Given the description of an element on the screen output the (x, y) to click on. 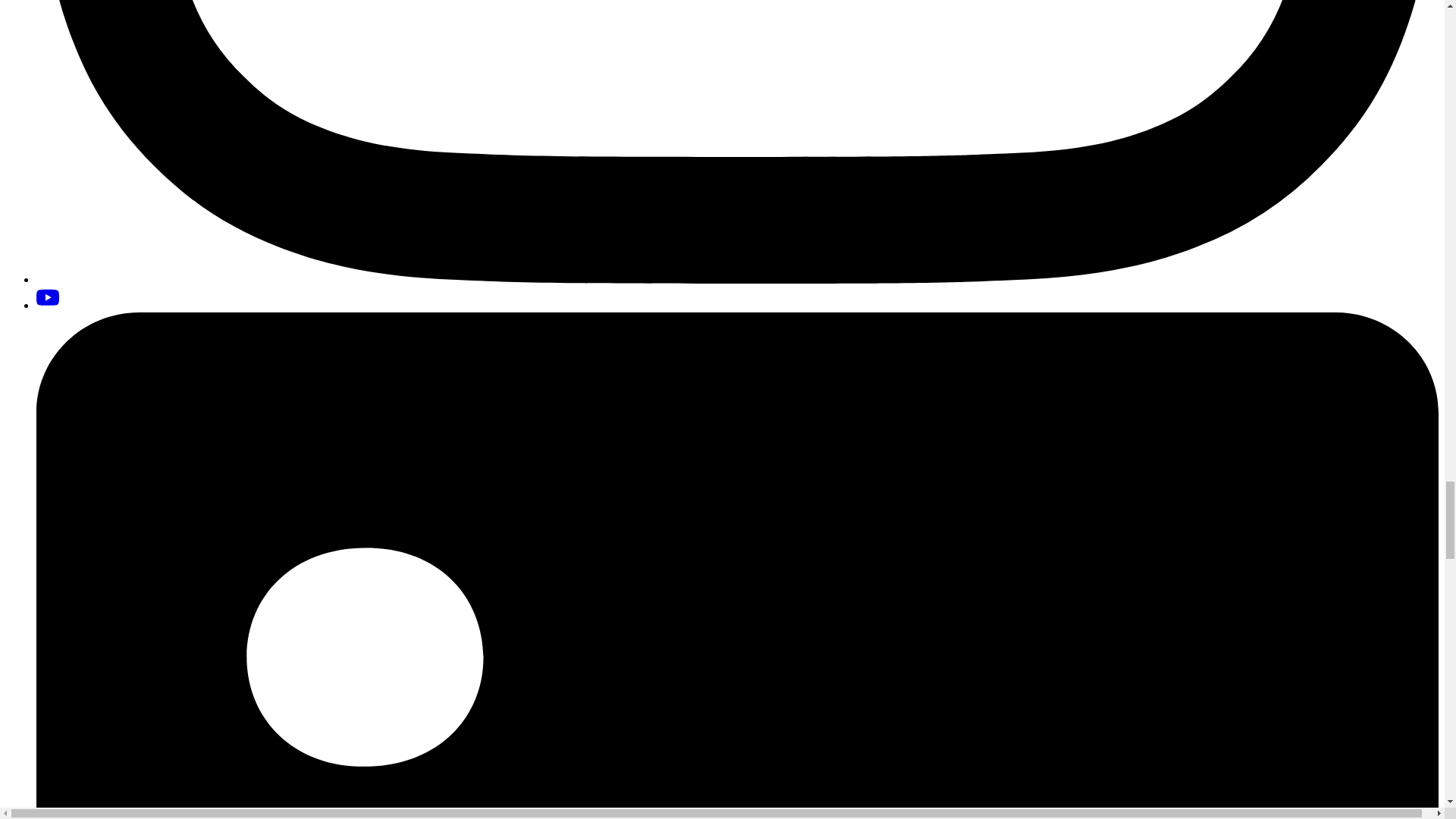
YouTube (47, 297)
